Given the description of an element on the screen output the (x, y) to click on. 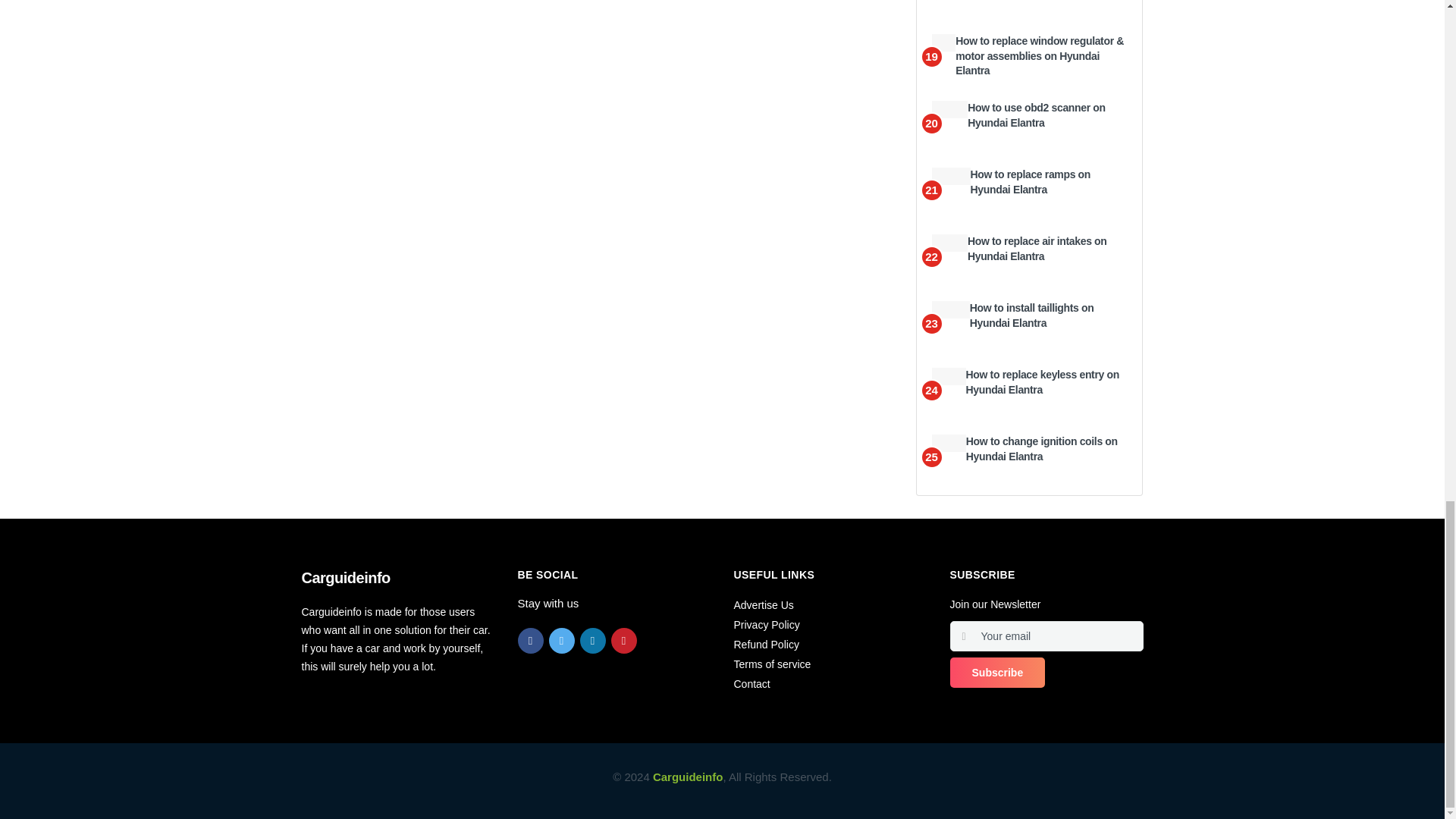
Subscribe (997, 672)
